Given the description of an element on the screen output the (x, y) to click on. 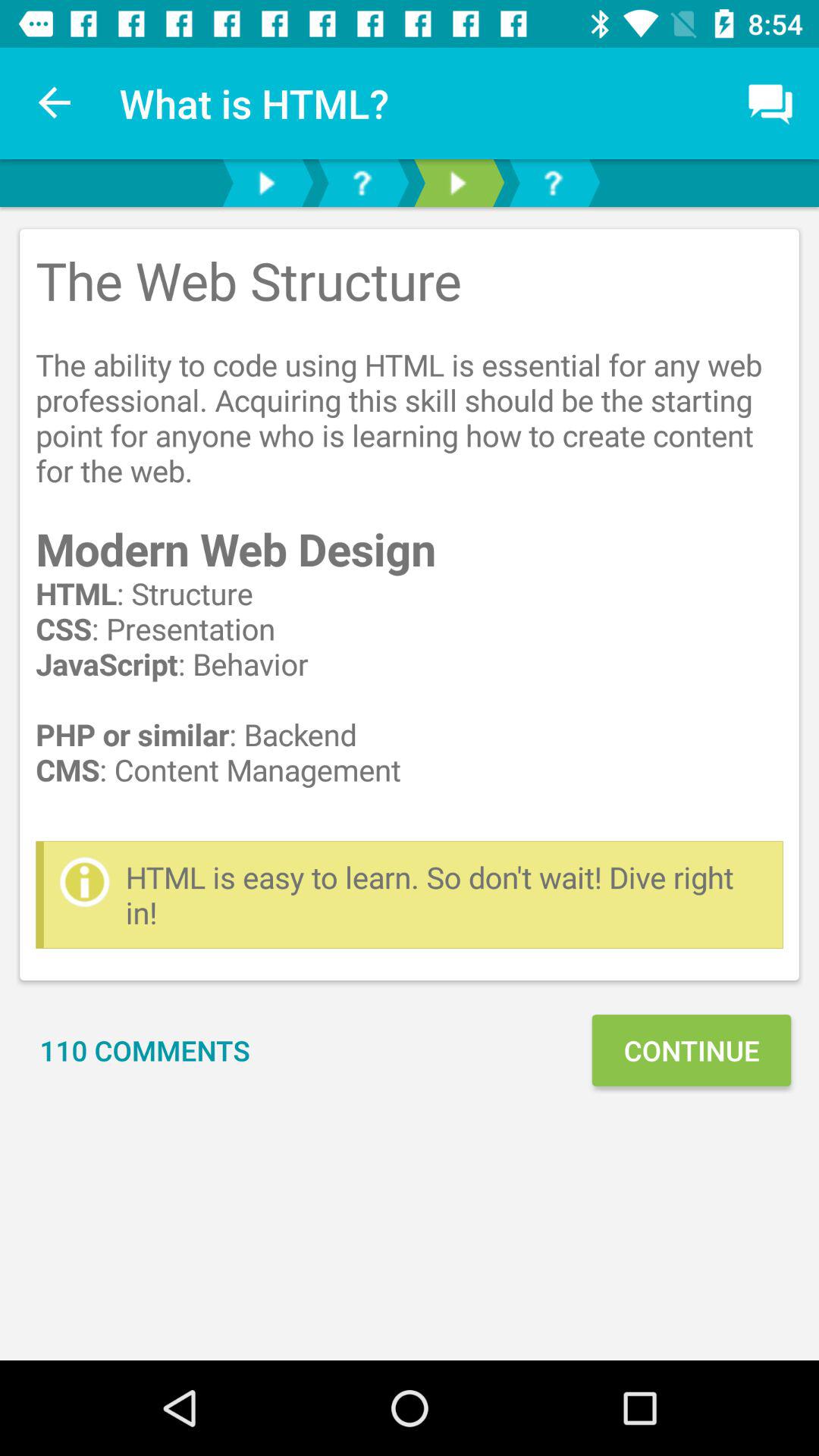
select question mark option (361, 183)
